Given the description of an element on the screen output the (x, y) to click on. 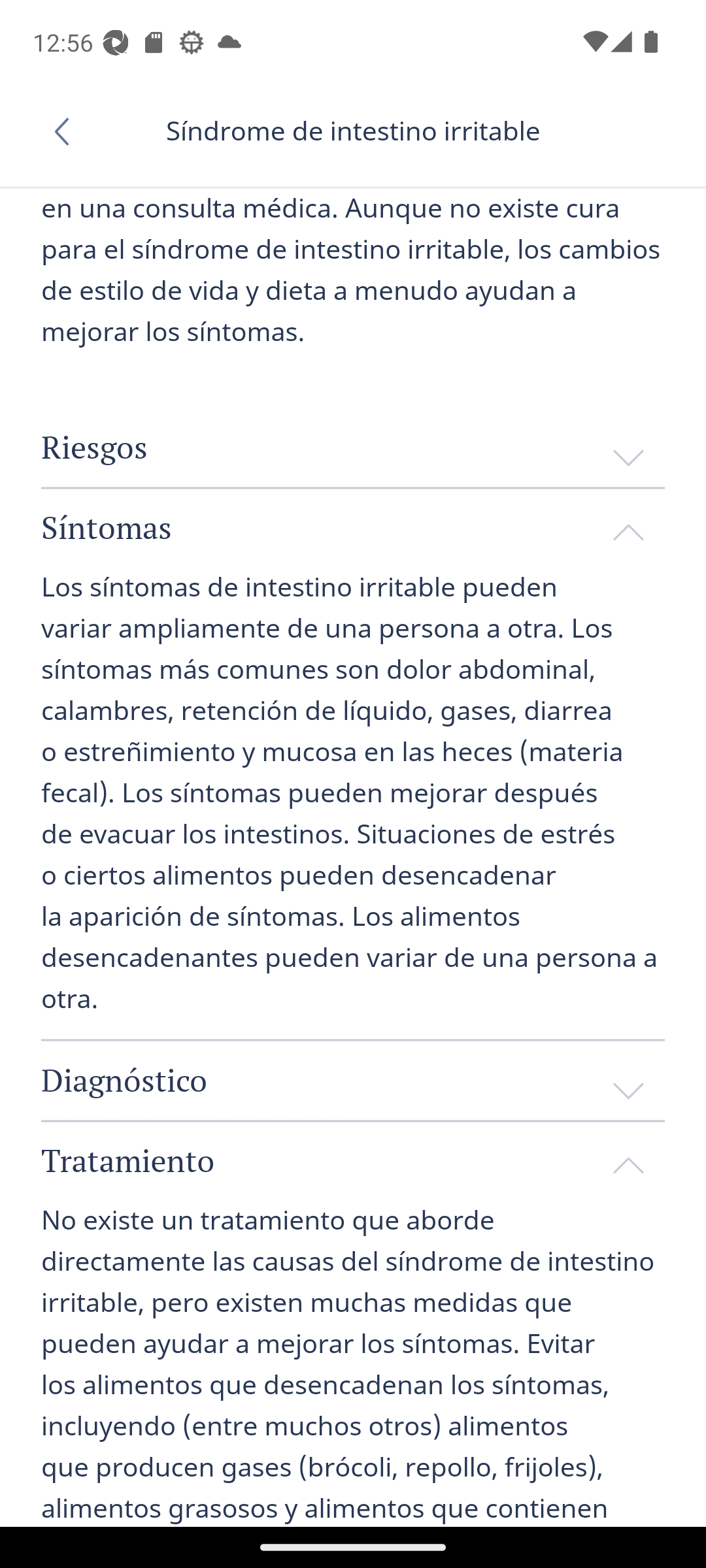
Go back, Navigates to the previous screen (68, 131)
Riesgos  (352, 446)
Síntomas  (352, 526)
Diagnóstico  (352, 1080)
Tratamiento  (352, 1160)
